Given the description of an element on the screen output the (x, y) to click on. 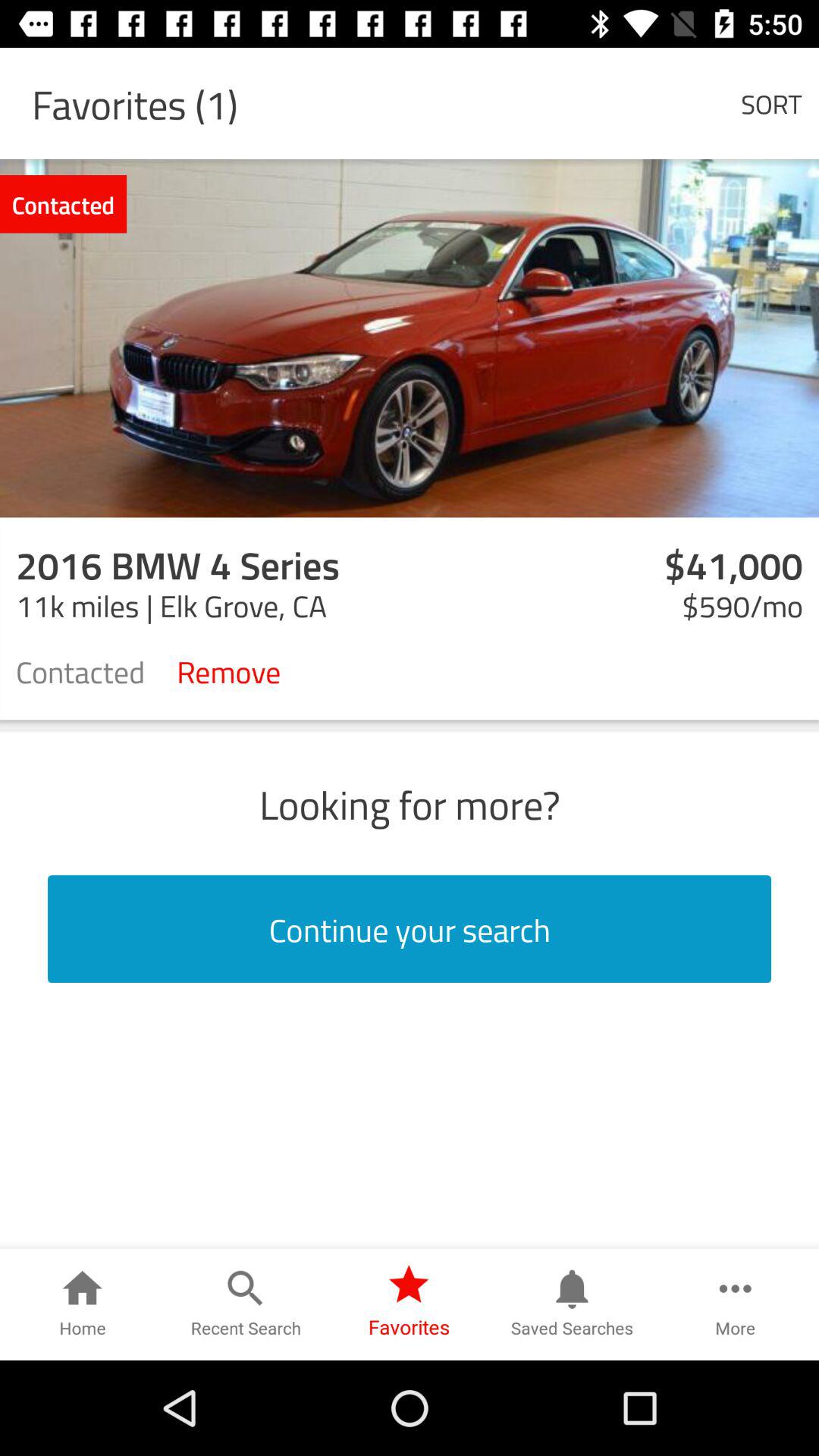
launch app next to favorites (1) icon (771, 103)
